Given the description of an element on the screen output the (x, y) to click on. 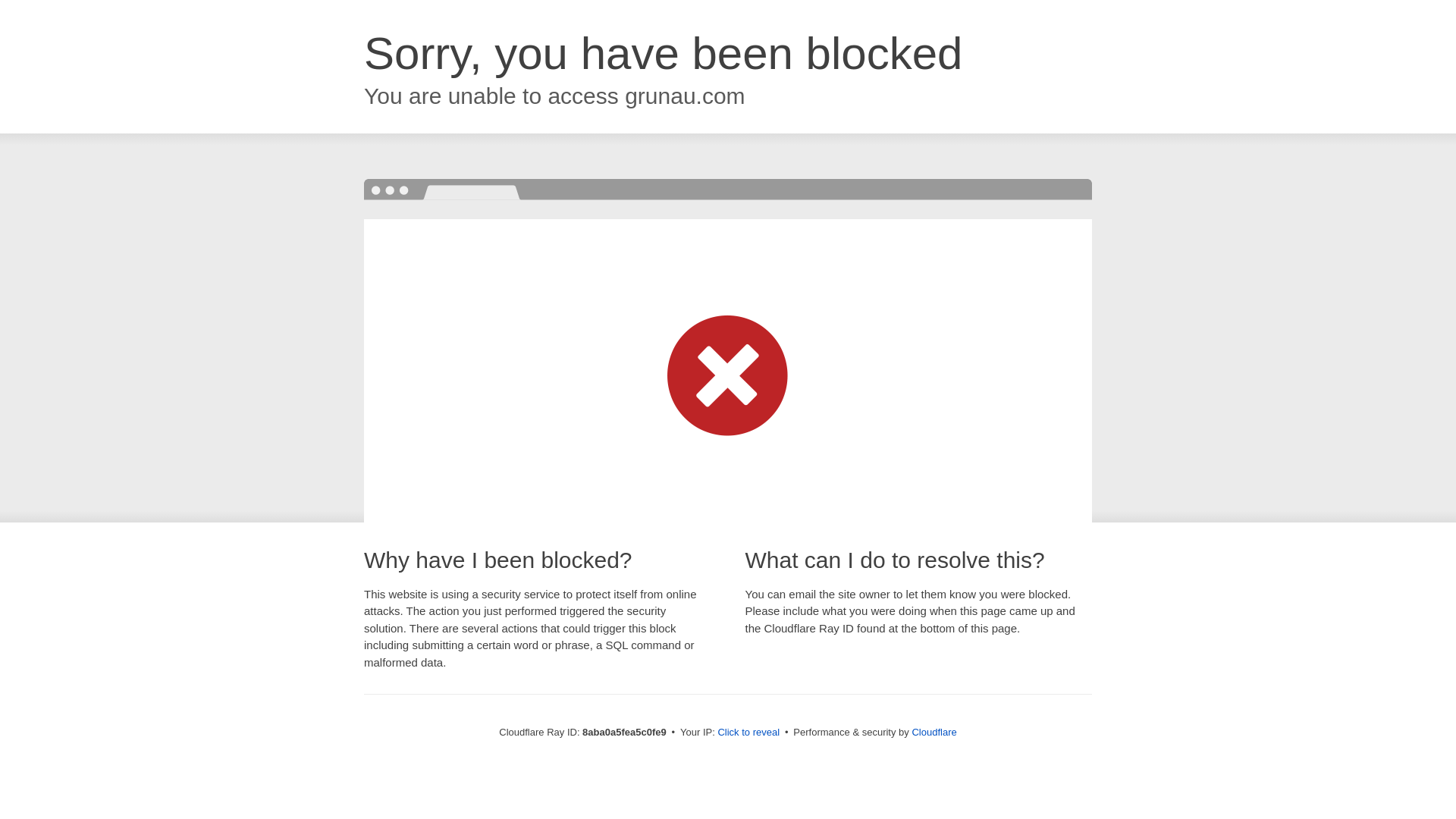
Click to reveal (747, 732)
Cloudflare (933, 731)
